Given the description of an element on the screen output the (x, y) to click on. 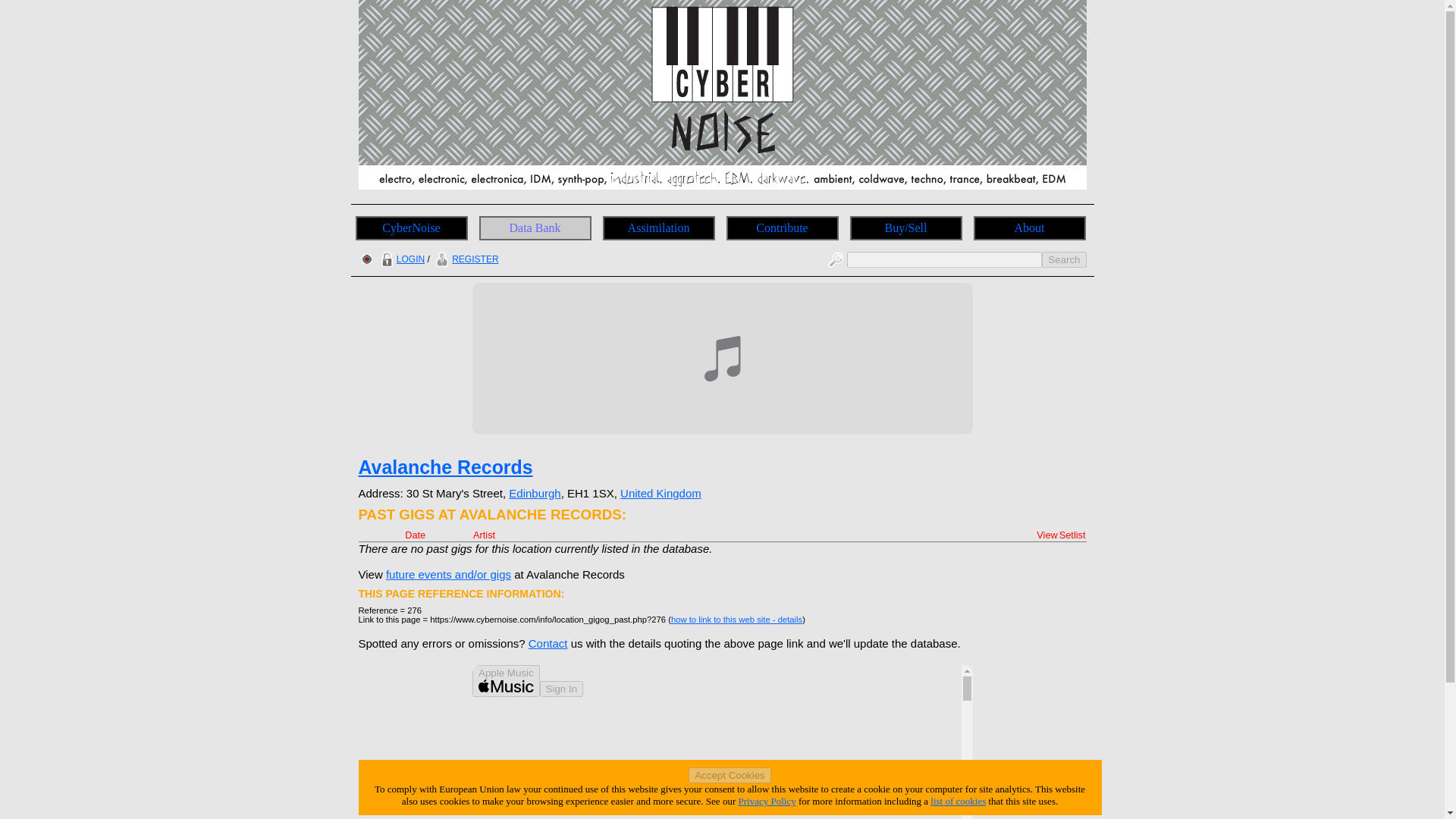
Data Bank (535, 228)
Search (1064, 259)
Contribute (782, 228)
About (1030, 228)
Accept Cookies (729, 774)
CyberNoise (411, 228)
Assimilation (658, 228)
